Given the description of an element on the screen output the (x, y) to click on. 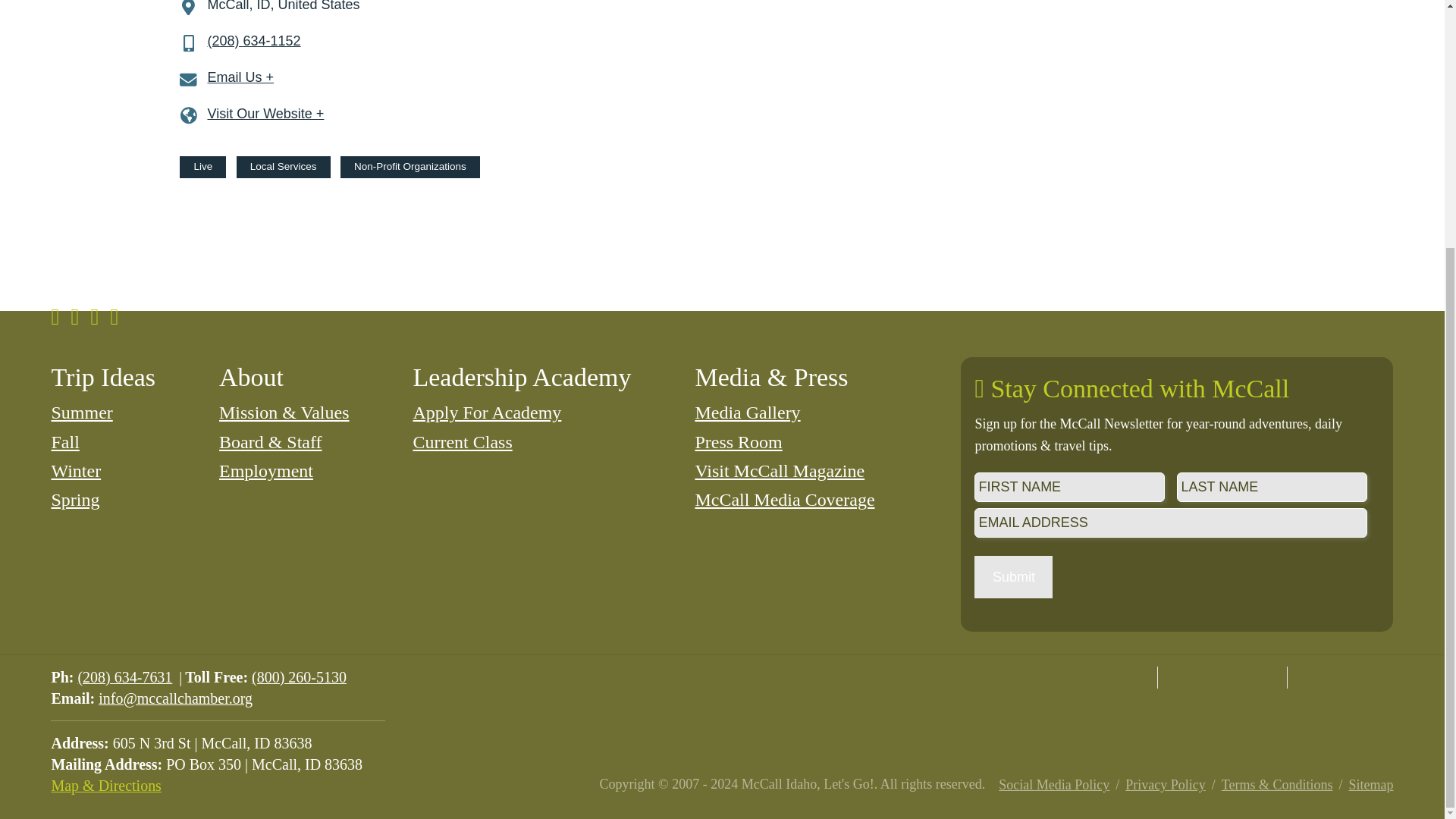
McCall Chamber (91, 556)
Submit (39, 297)
Member Center (1038, 492)
Visit McCall (1092, 677)
Lifestyle (950, 556)
Visit Idaho (1351, 677)
Things To Do (753, 556)
McCall Chamber (1221, 677)
Submit (39, 61)
Join the Chamber (918, 492)
